Given the description of an element on the screen output the (x, y) to click on. 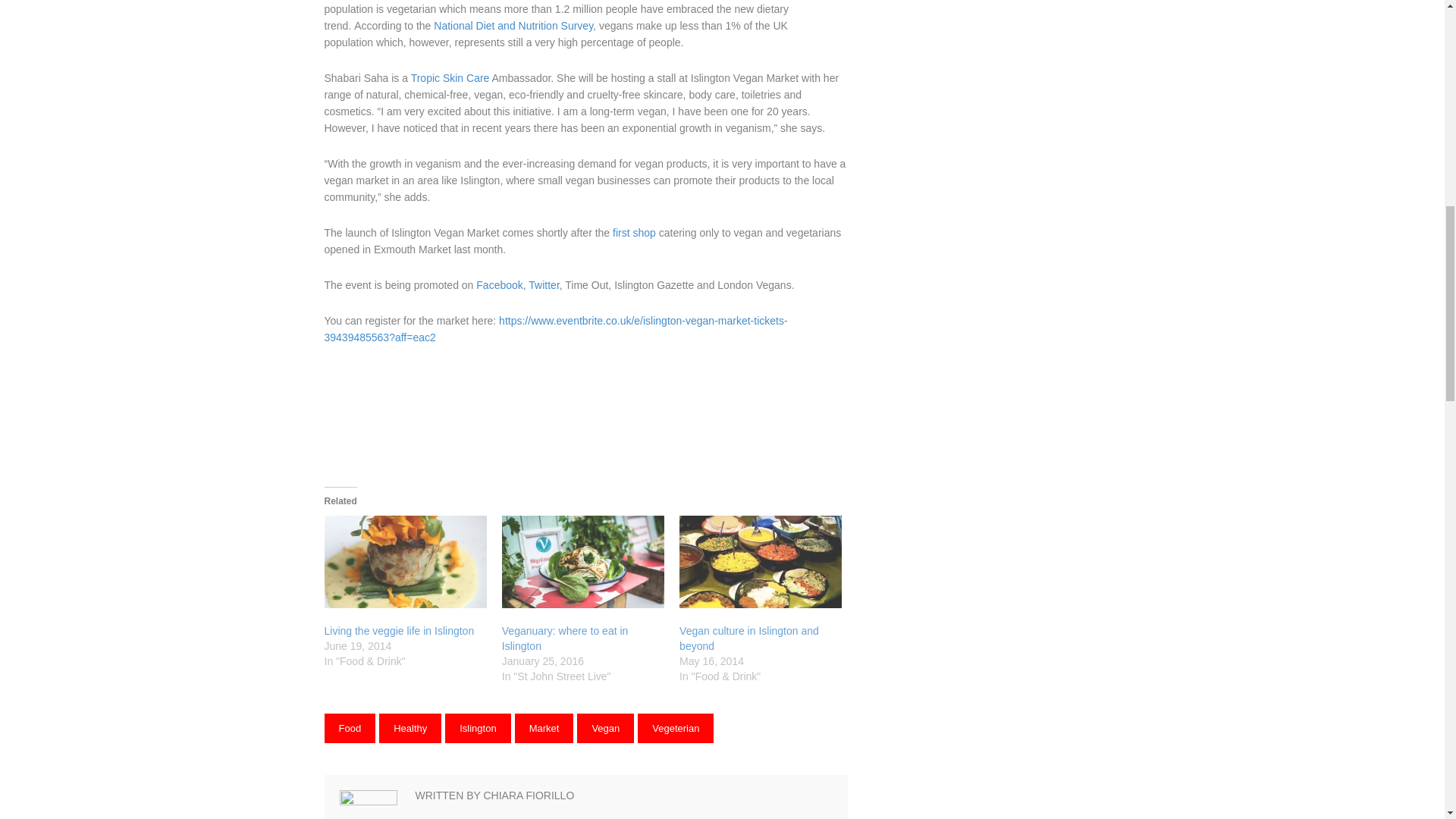
Tropic Skin Care (449, 78)
first shop (634, 232)
Facebook (499, 285)
Healthy (409, 727)
Vegan culture in Islington and beyond (748, 637)
Food (349, 727)
Veganuary: where to eat in Islington (565, 637)
Twitter (543, 285)
Living the veggie life in Islington (399, 630)
National Diet and Nutrition Survey (512, 25)
